Given the description of an element on the screen output the (x, y) to click on. 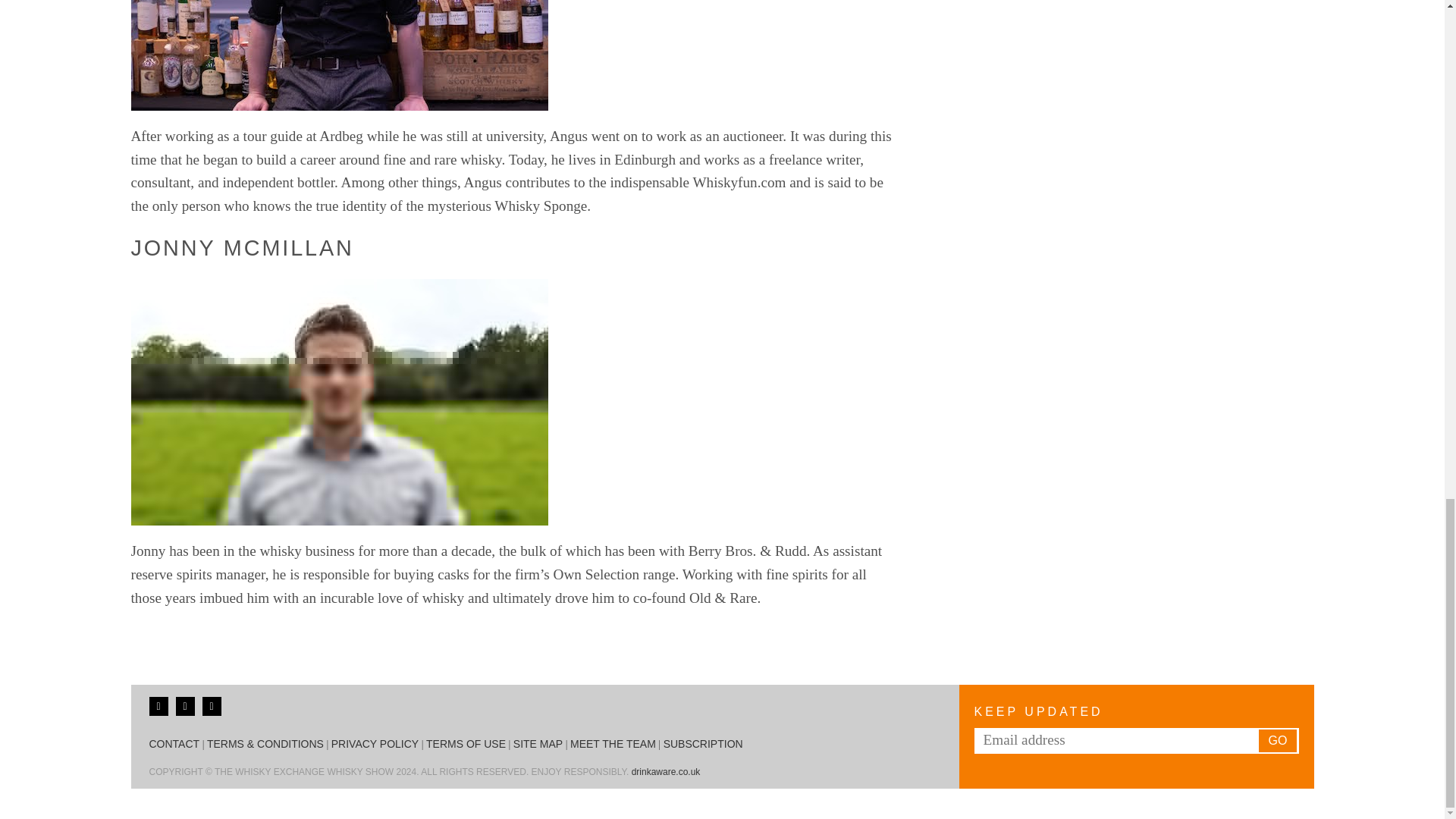
GO (1278, 740)
drinkaware.co.uk (665, 771)
PRIVACY POLICY (375, 743)
TERMS OF USE (465, 743)
MEET THE TEAM (613, 743)
SITE MAP (537, 743)
CONTACT (173, 743)
SUBSCRIPTION (702, 743)
